Given the description of an element on the screen output the (x, y) to click on. 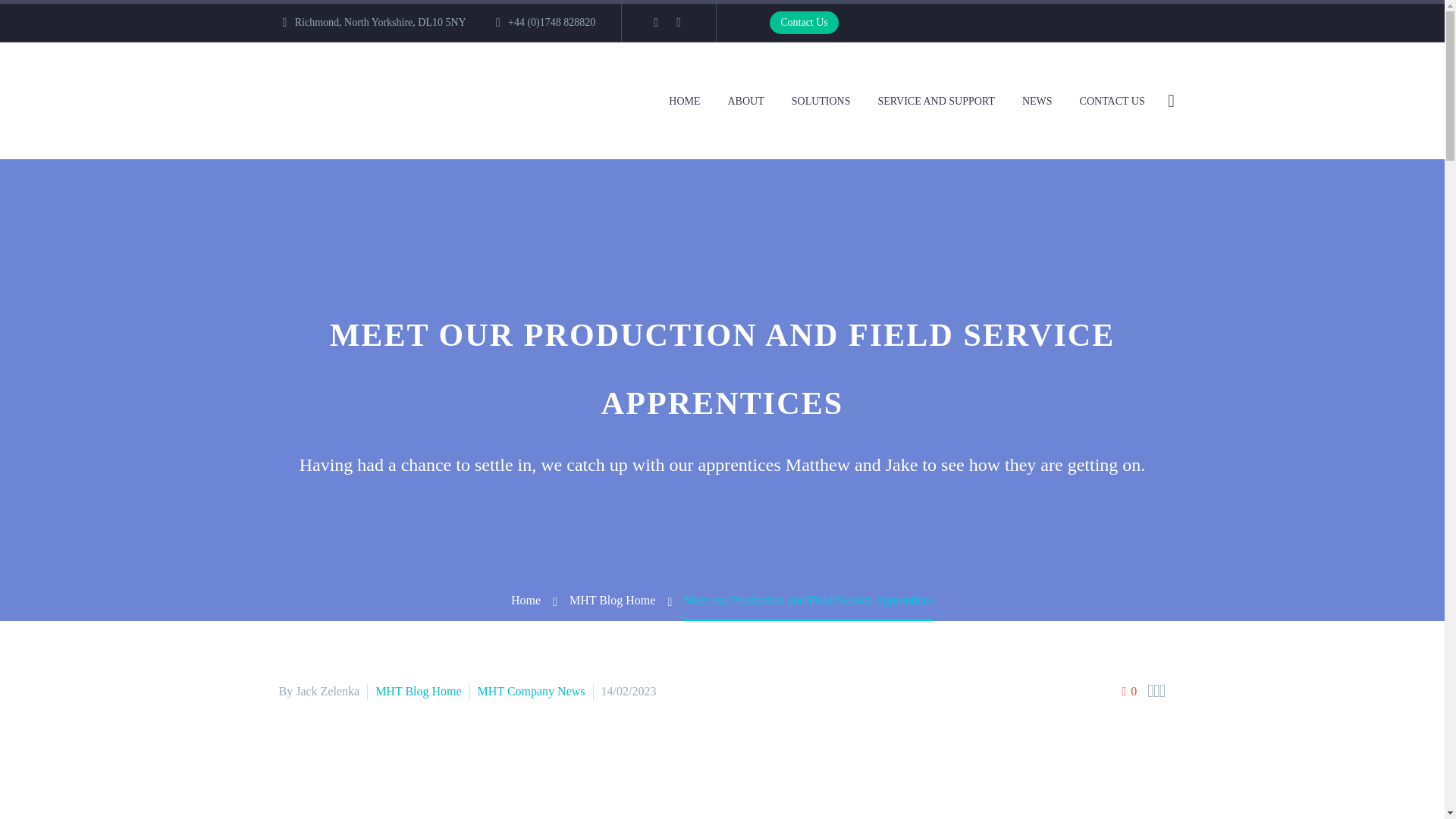
View all posts in MHT Company News (531, 690)
SOLUTIONS (820, 99)
Contact Us (804, 22)
View all posts in MHT Blog Home (418, 690)
HOME (684, 99)
LinkedIn (655, 22)
ABOUT (745, 99)
Twitter (678, 22)
